Given the description of an element on the screen output the (x, y) to click on. 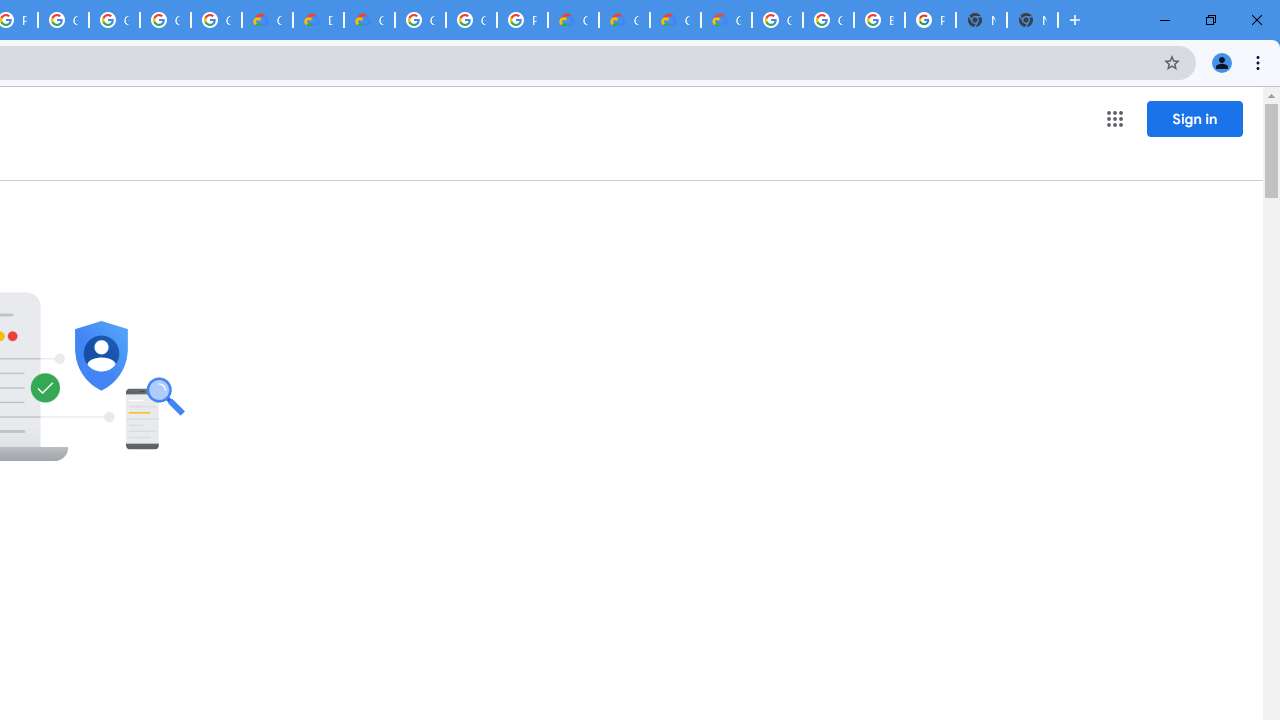
Google Workspace - Specific Terms (164, 20)
Google Cloud Pricing Calculator (624, 20)
Customer Care | Google Cloud (267, 20)
Gemini for Business and Developers | Google Cloud (369, 20)
Customer Care | Google Cloud (573, 20)
Google Cloud Platform (420, 20)
